Given the description of an element on the screen output the (x, y) to click on. 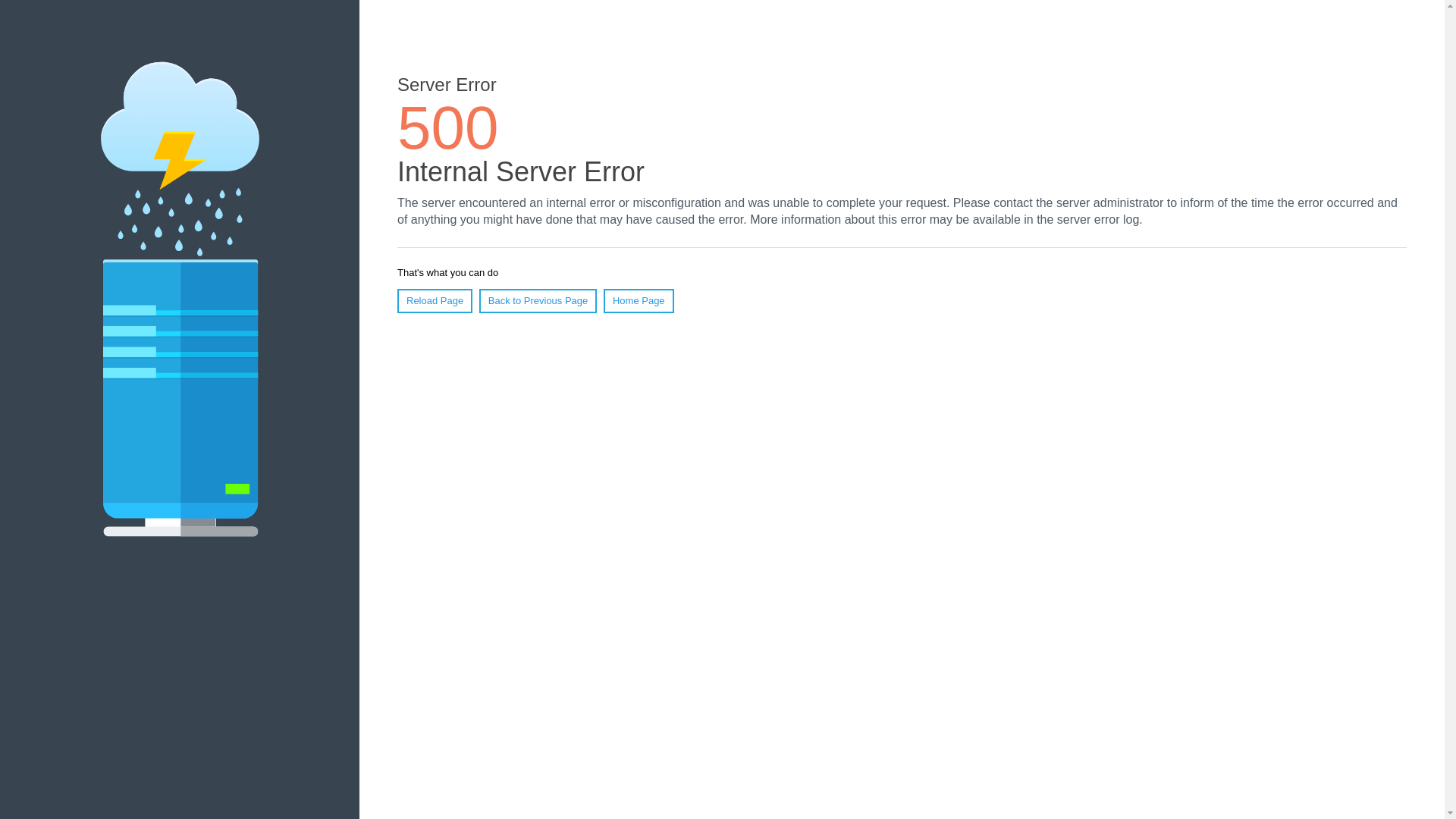
Back to Previous Page Element type: text (538, 300)
Reload Page Element type: text (434, 300)
Home Page Element type: text (638, 300)
